Given the description of an element on the screen output the (x, y) to click on. 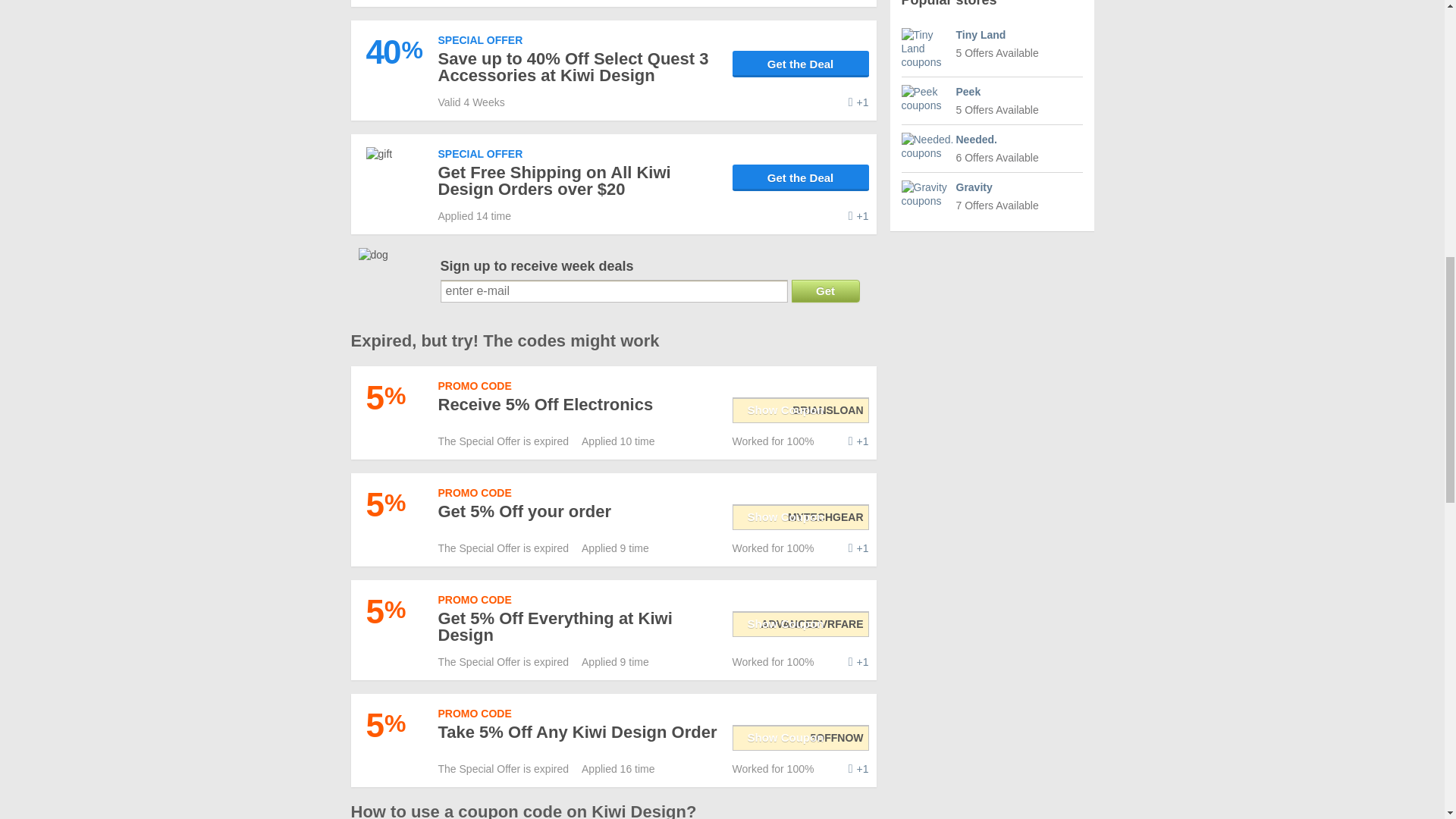
Show Coupon (800, 516)
Leave your comment  (858, 440)
Get the Deal (800, 63)
Leave your comment  (858, 215)
Get the Deal (800, 177)
Show Coupon (800, 409)
Leave your comment  (858, 548)
Leave your comment  (858, 101)
